Given the description of an element on the screen output the (x, y) to click on. 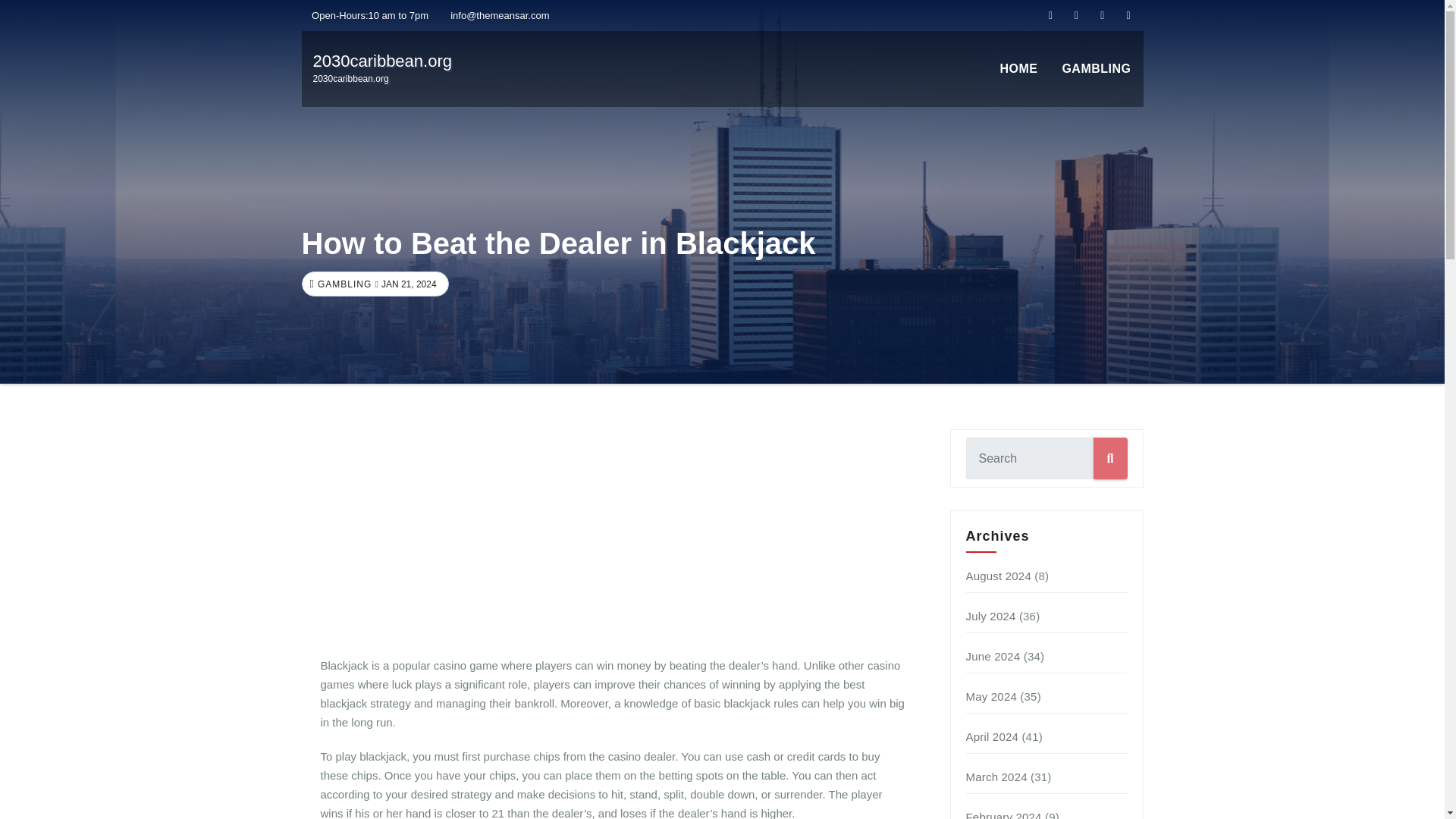
GAMBLING (1095, 69)
GAMBLING (342, 284)
Gambling (1095, 69)
August 2024 (998, 575)
Open-Hours:10 am to 7pm (365, 15)
March 2024 (996, 776)
February 2024 (1004, 814)
July 2024 (382, 68)
April 2024 (991, 615)
May 2024 (992, 736)
June 2024 (991, 696)
